Given the description of an element on the screen output the (x, y) to click on. 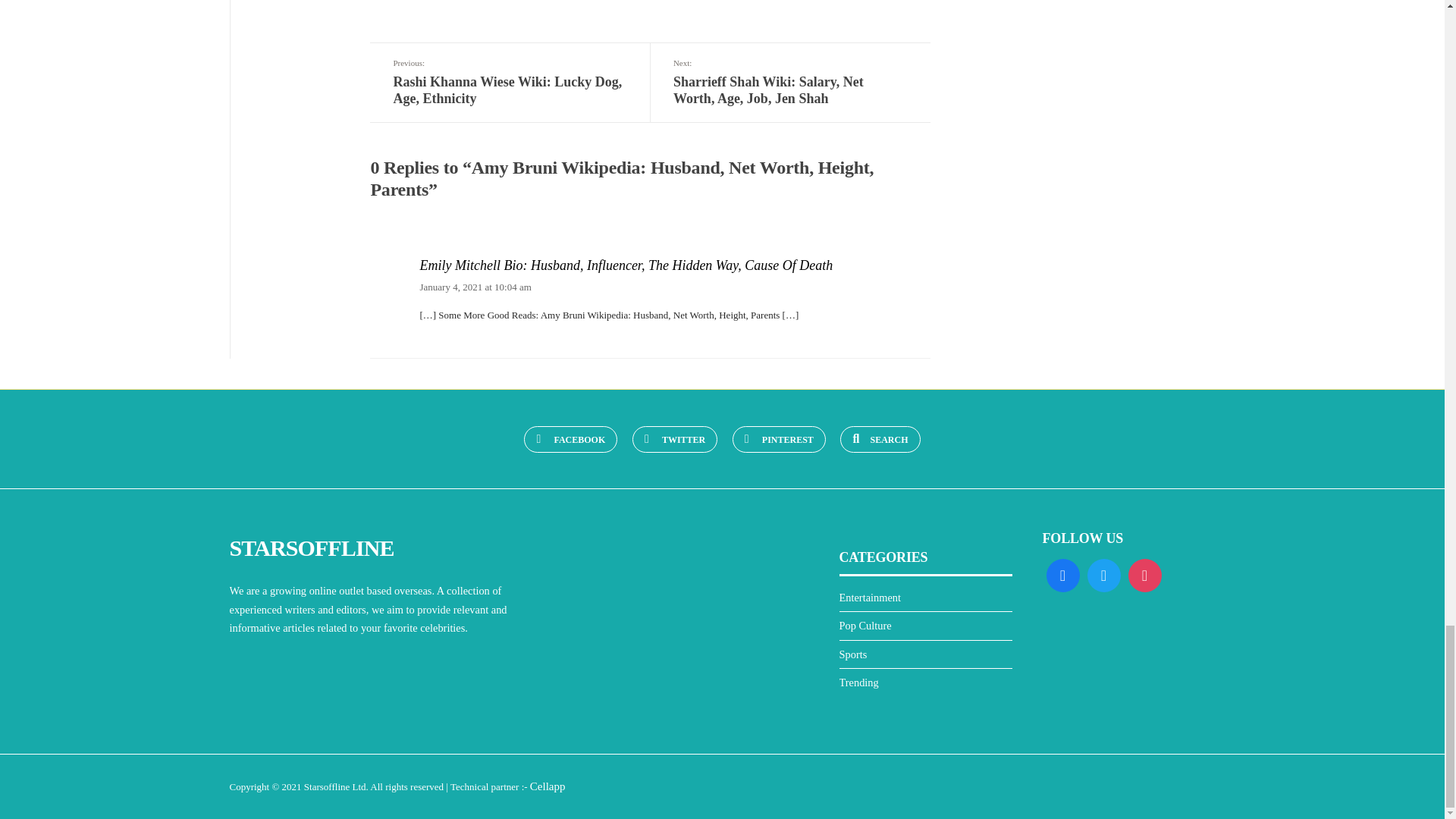
Pop Culture (864, 625)
STARSOFFLINE (310, 547)
Cellapp (547, 786)
Trending (857, 682)
PINTEREST (778, 438)
Sports (852, 654)
Pinterest (778, 438)
